Given the description of an element on the screen output the (x, y) to click on. 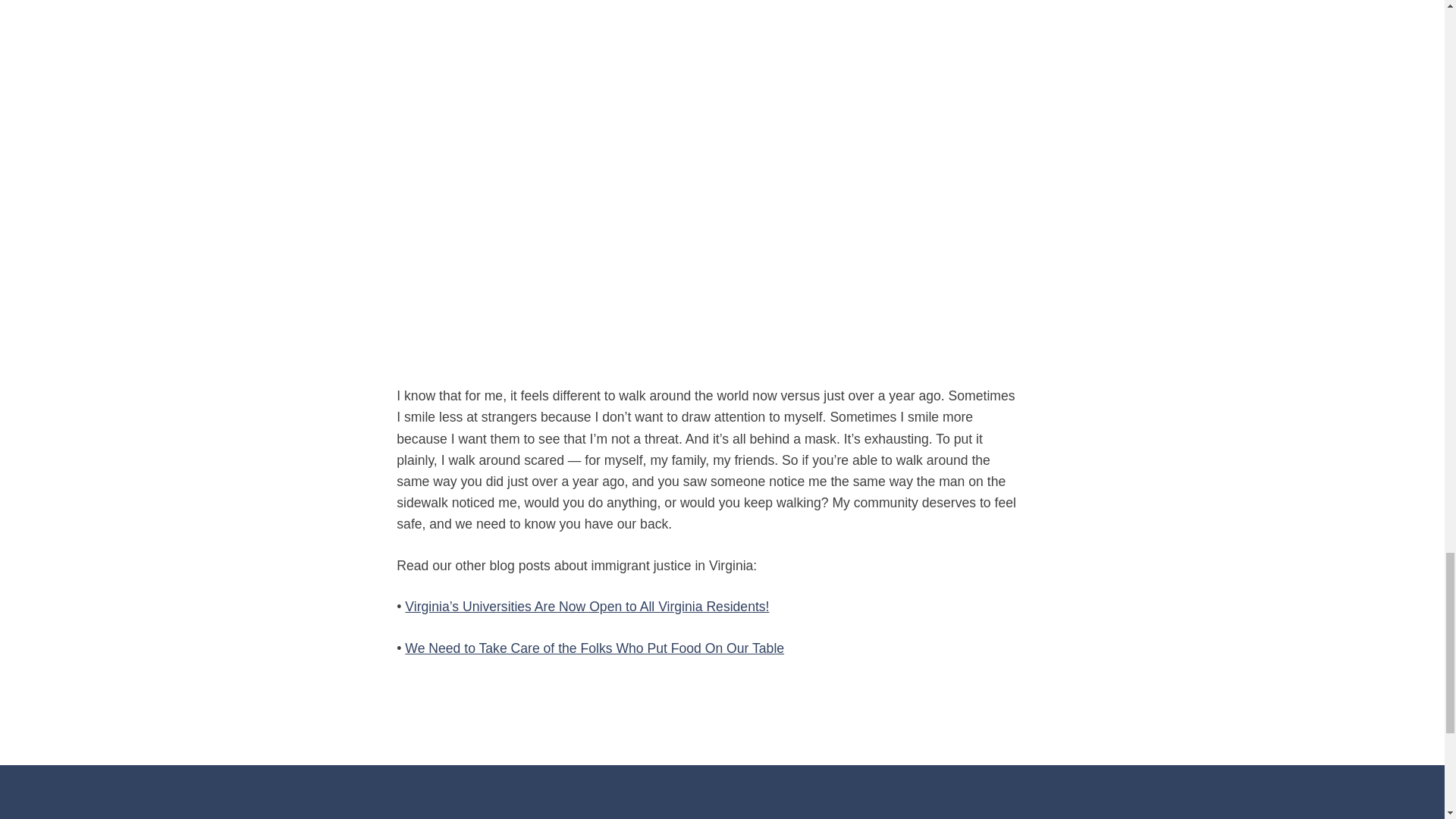
We Need to Take Care of the Folks Who Put Food On Our Table (594, 648)
